Given the description of an element on the screen output the (x, y) to click on. 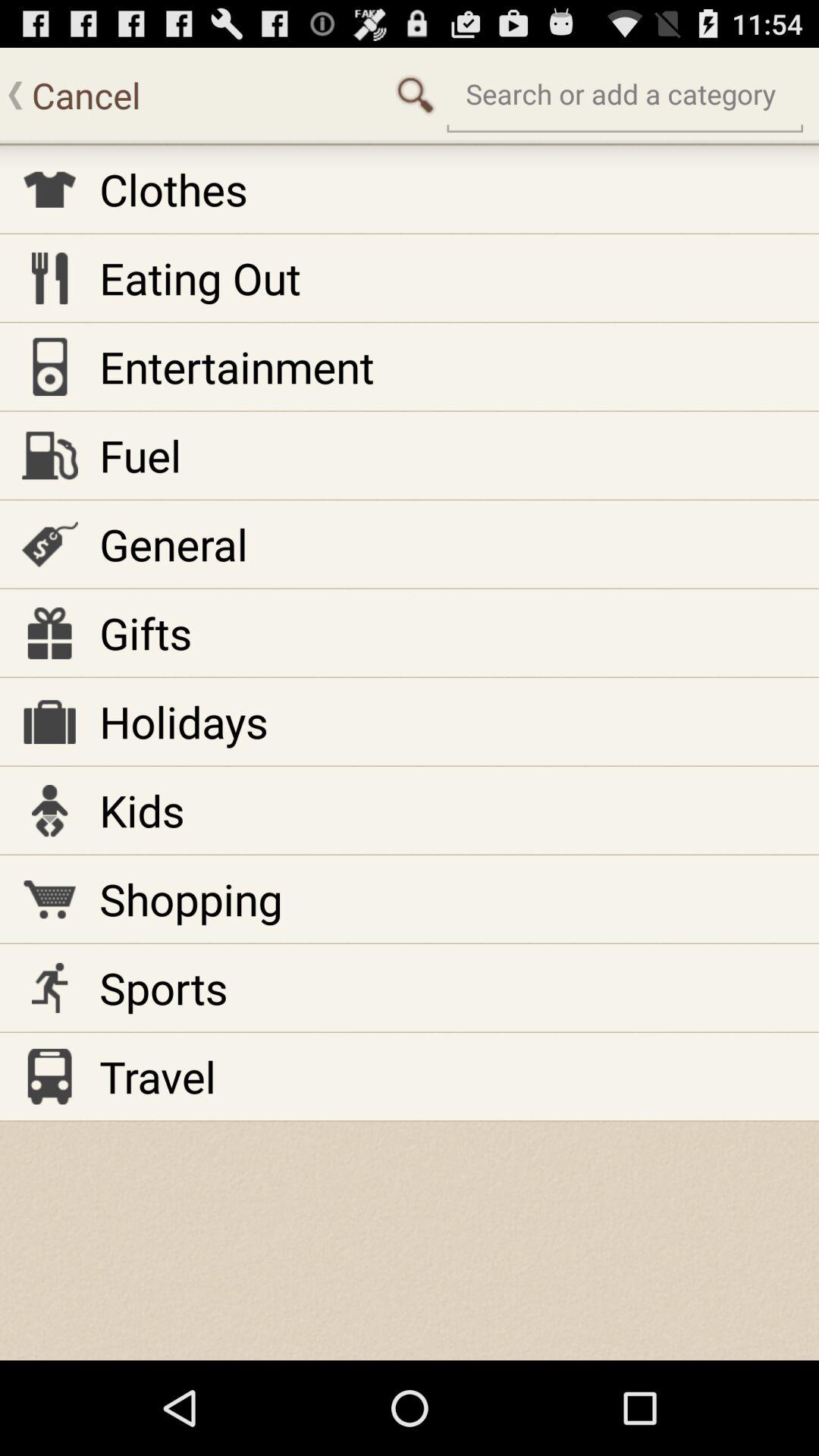
tap the clothes icon (173, 189)
